Given the description of an element on the screen output the (x, y) to click on. 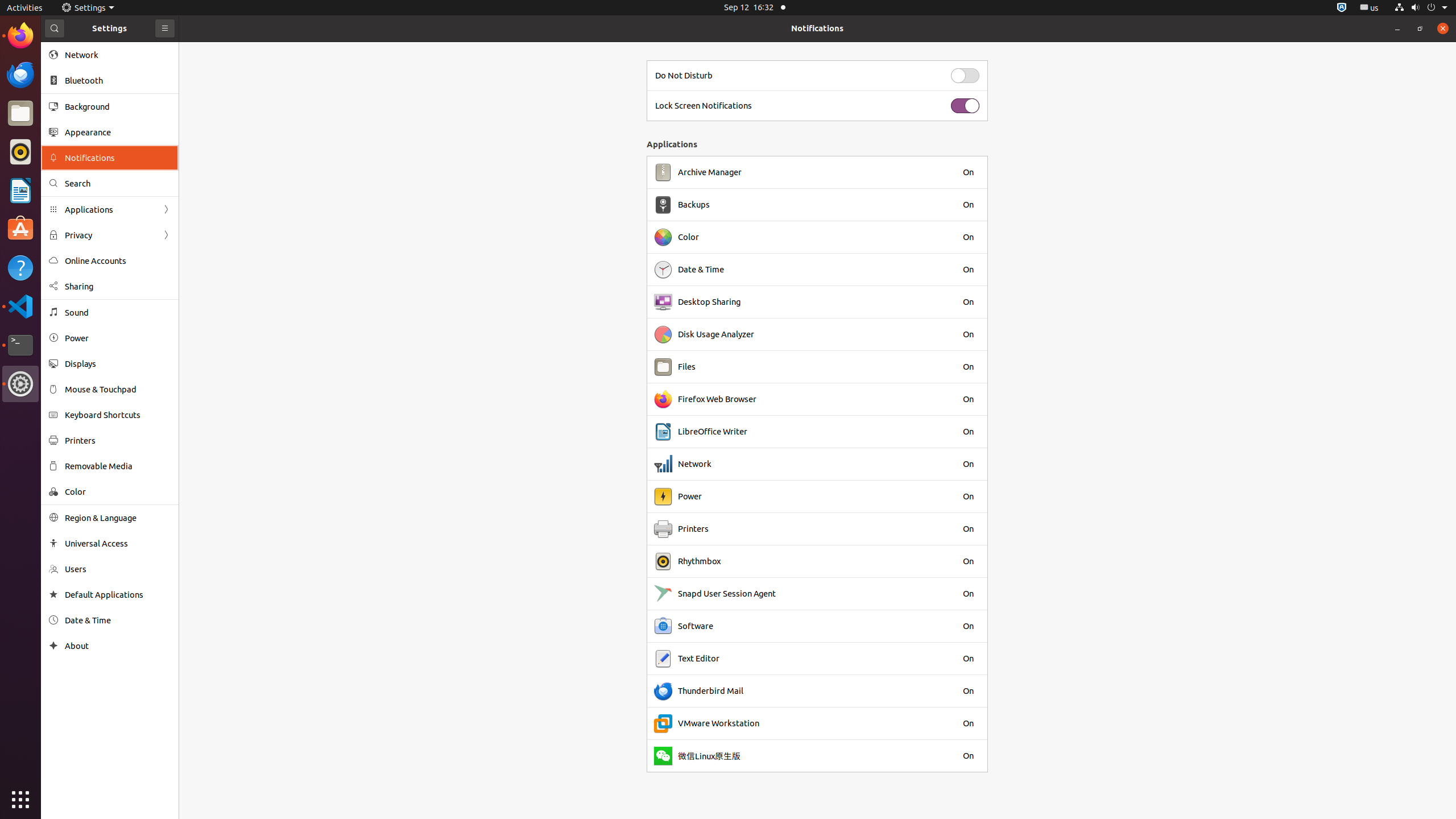
Appearance Element type: label (117, 132)
Applications Element type: label (109, 209)
